Given the description of an element on the screen output the (x, y) to click on. 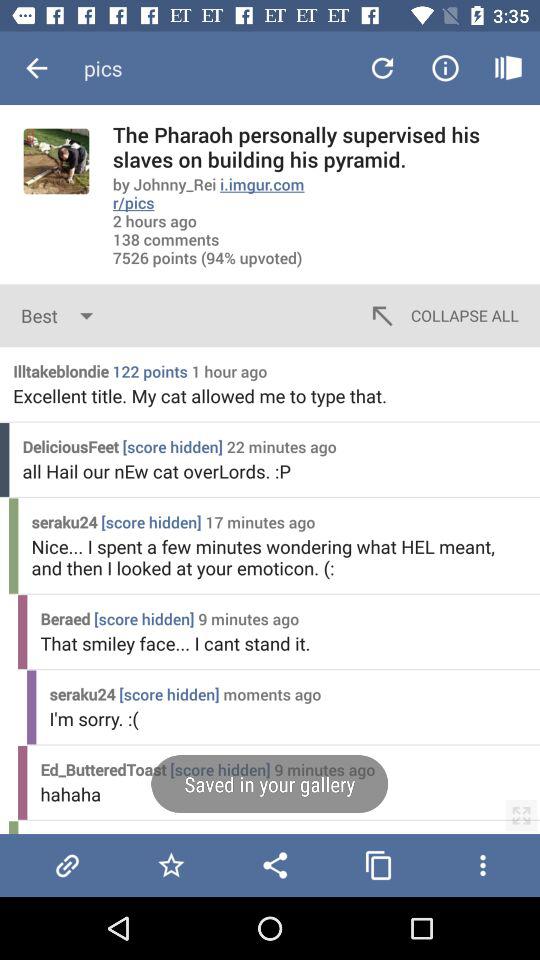
click the item above the the pharaoh personally (508, 67)
